Given the description of an element on the screen output the (x, y) to click on. 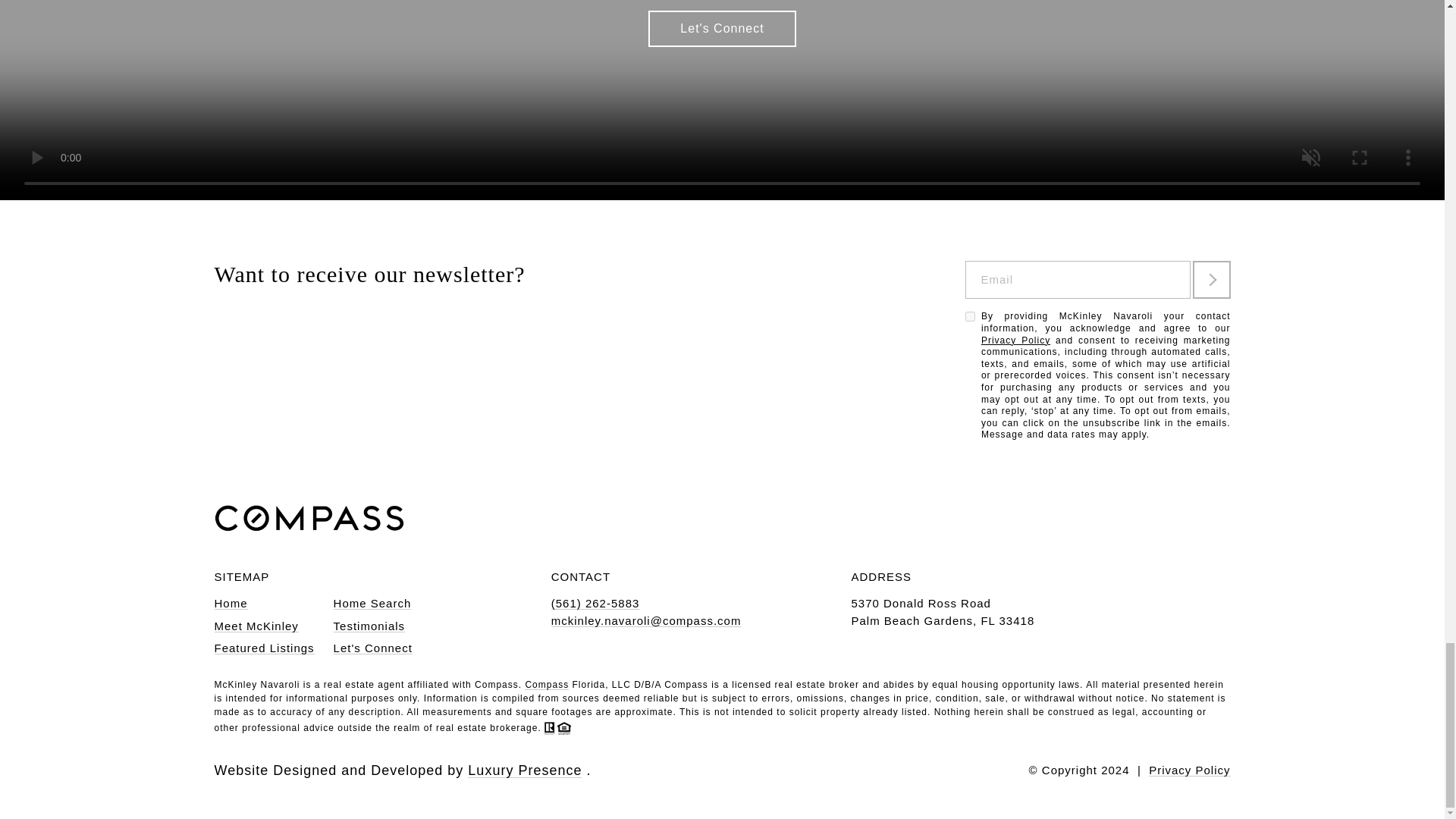
on (968, 316)
